Given the description of an element on the screen output the (x, y) to click on. 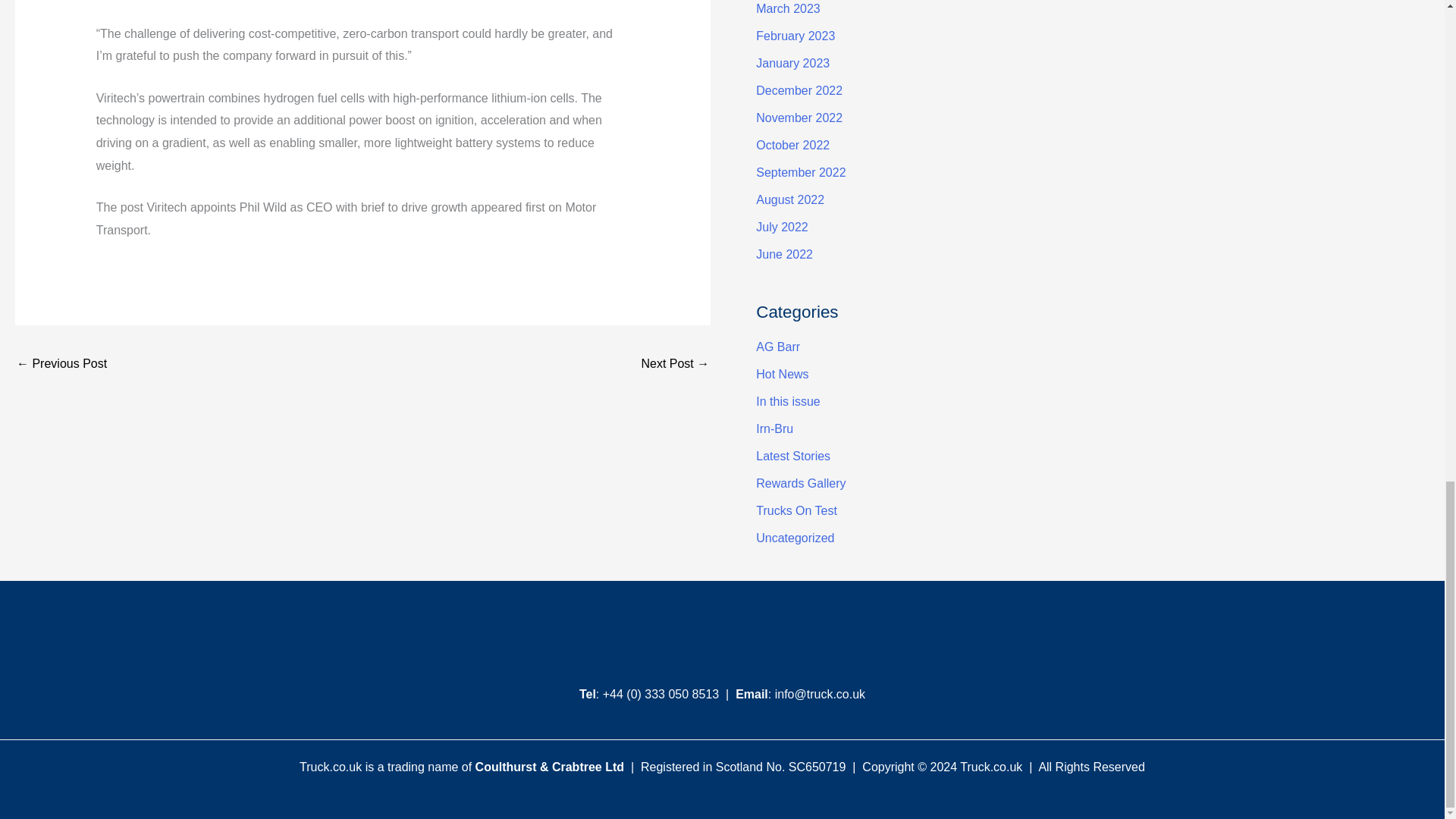
Salt Barns Full For Winter Roads (61, 365)
DAF Keen On Zero Emissions Programme (674, 365)
